Given the description of an element on the screen output the (x, y) to click on. 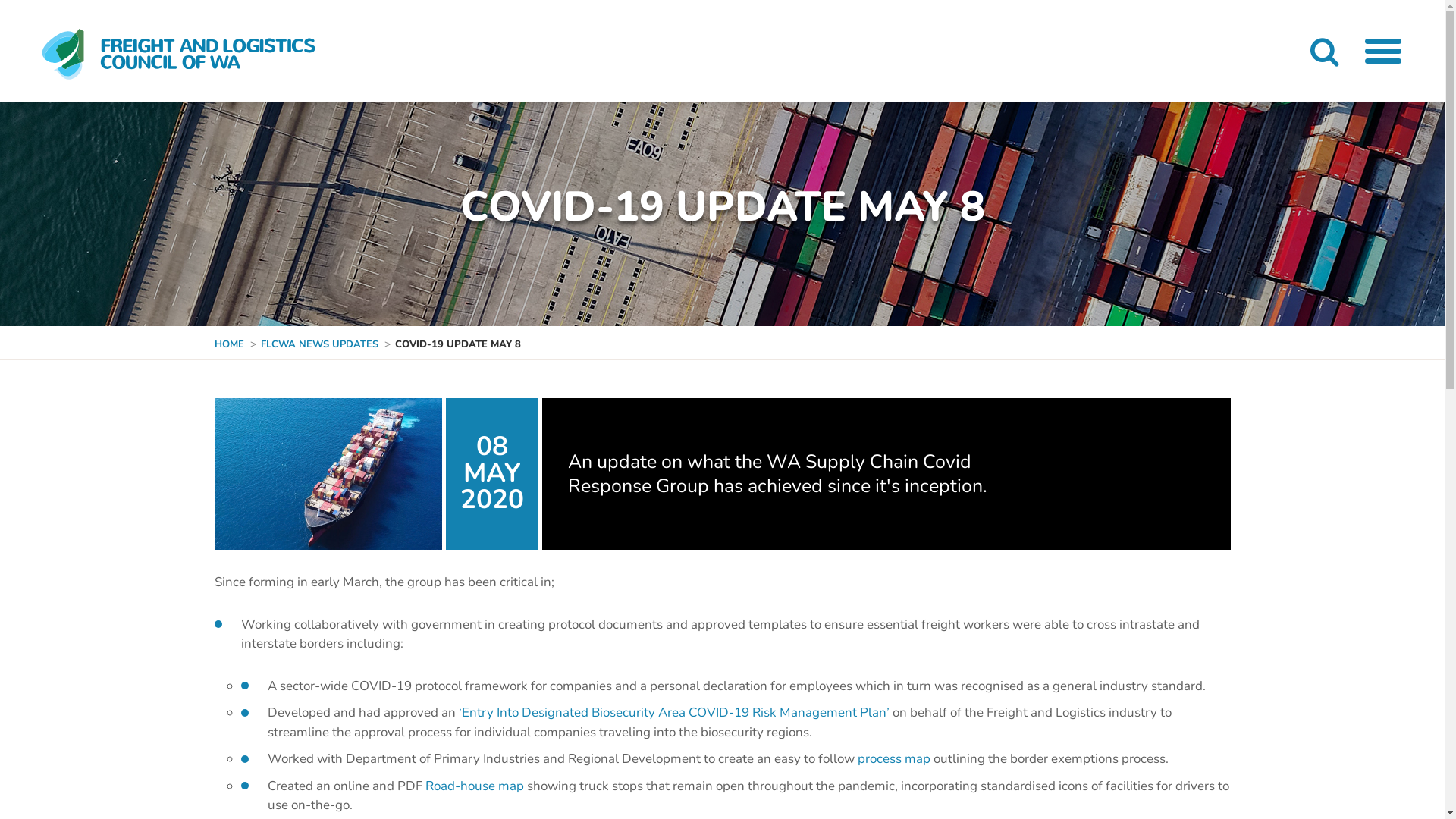
Road-house map Element type: text (473, 784)
HOME Element type: text (228, 344)
process map Element type: text (892, 758)
FLCWA NEWS UPDATES Element type: text (319, 344)
